Given the description of an element on the screen output the (x, y) to click on. 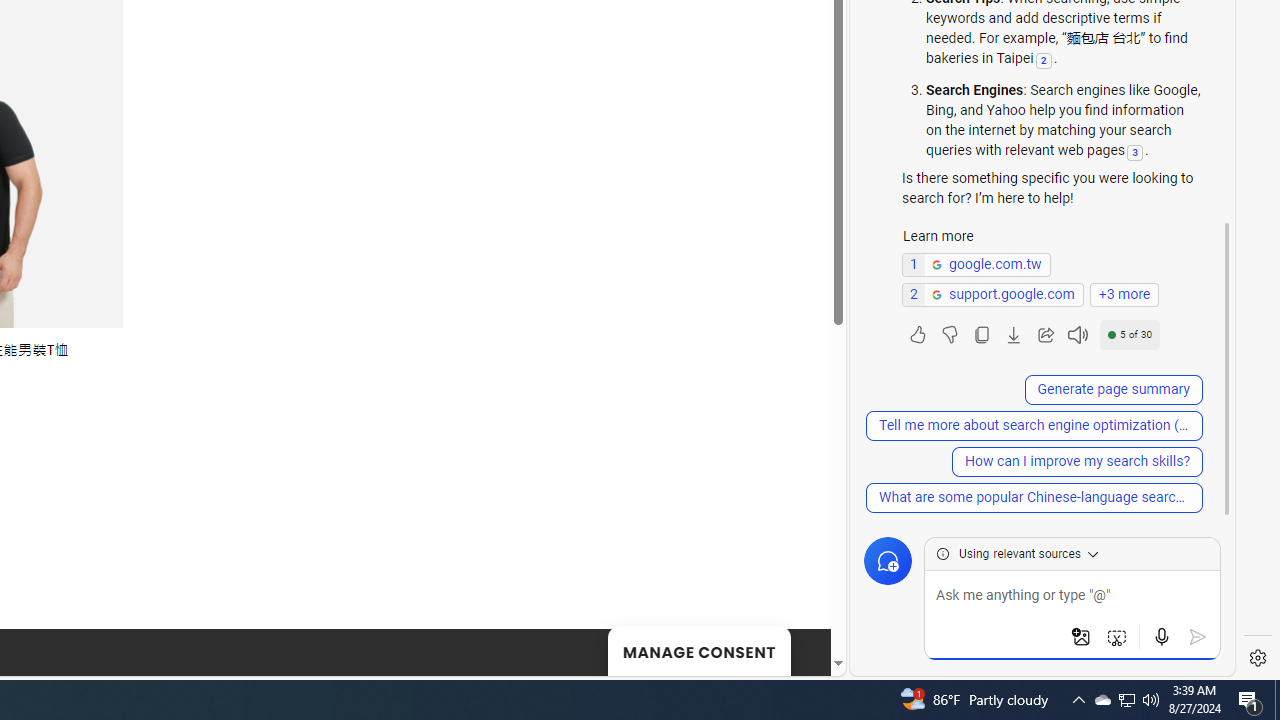
Go to top (790, 647)
MANAGE CONSENT (698, 650)
